Given the description of an element on the screen output the (x, y) to click on. 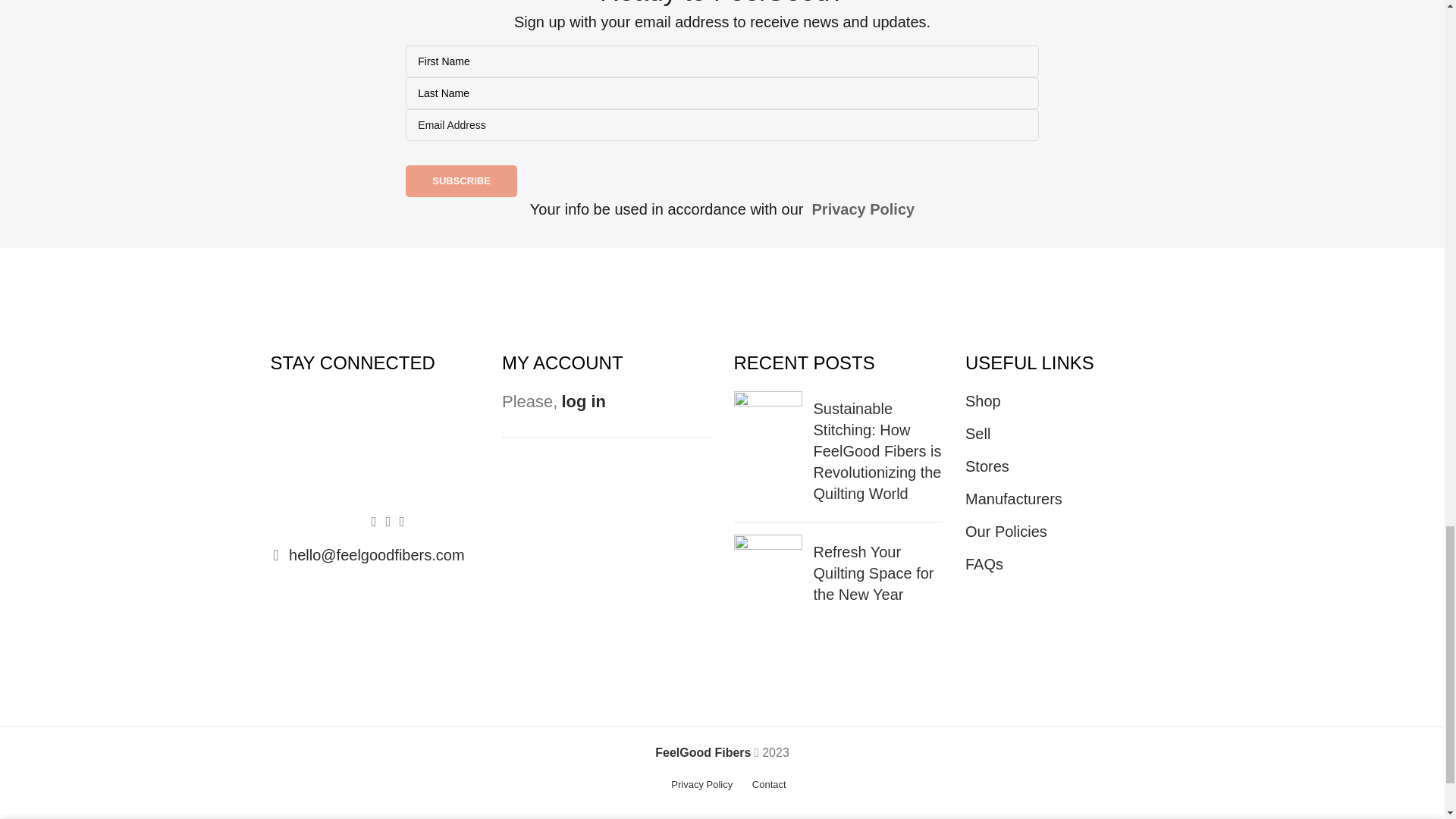
Subscribe (461, 181)
Permalink to Refresh Your Quilting Space for the New Year (872, 572)
